Given the description of an element on the screen output the (x, y) to click on. 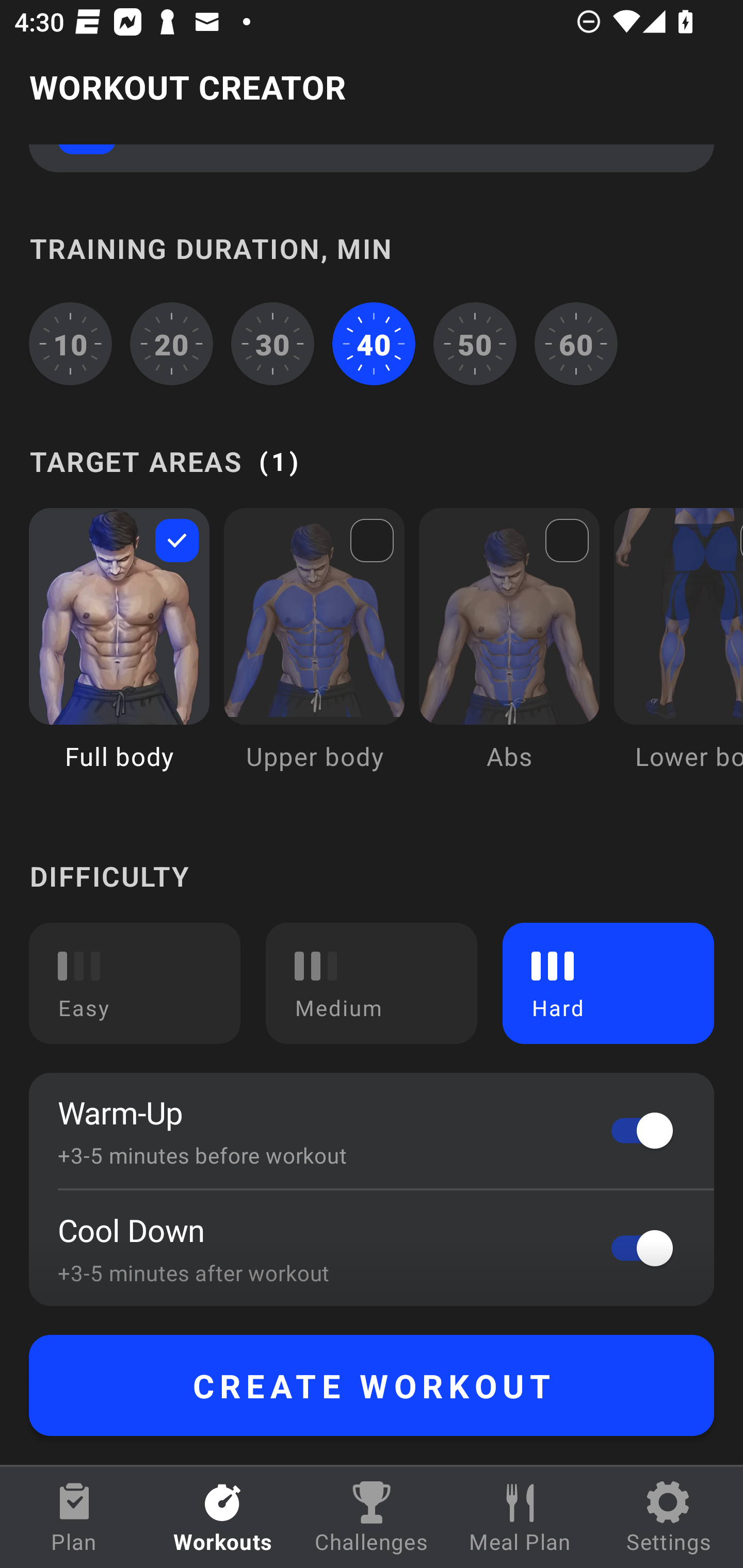
10 (70, 344)
20 (171, 344)
30 (272, 344)
40 (373, 344)
50 (474, 344)
60 (575, 344)
Upper body (313, 653)
Abs (509, 653)
Lower body (678, 653)
Easy (134, 982)
Medium (371, 982)
CREATE WORKOUT (371, 1385)
 Plan  (74, 1517)
 Challenges  (371, 1517)
 Meal Plan  (519, 1517)
 Settings  (668, 1517)
